Given the description of an element on the screen output the (x, y) to click on. 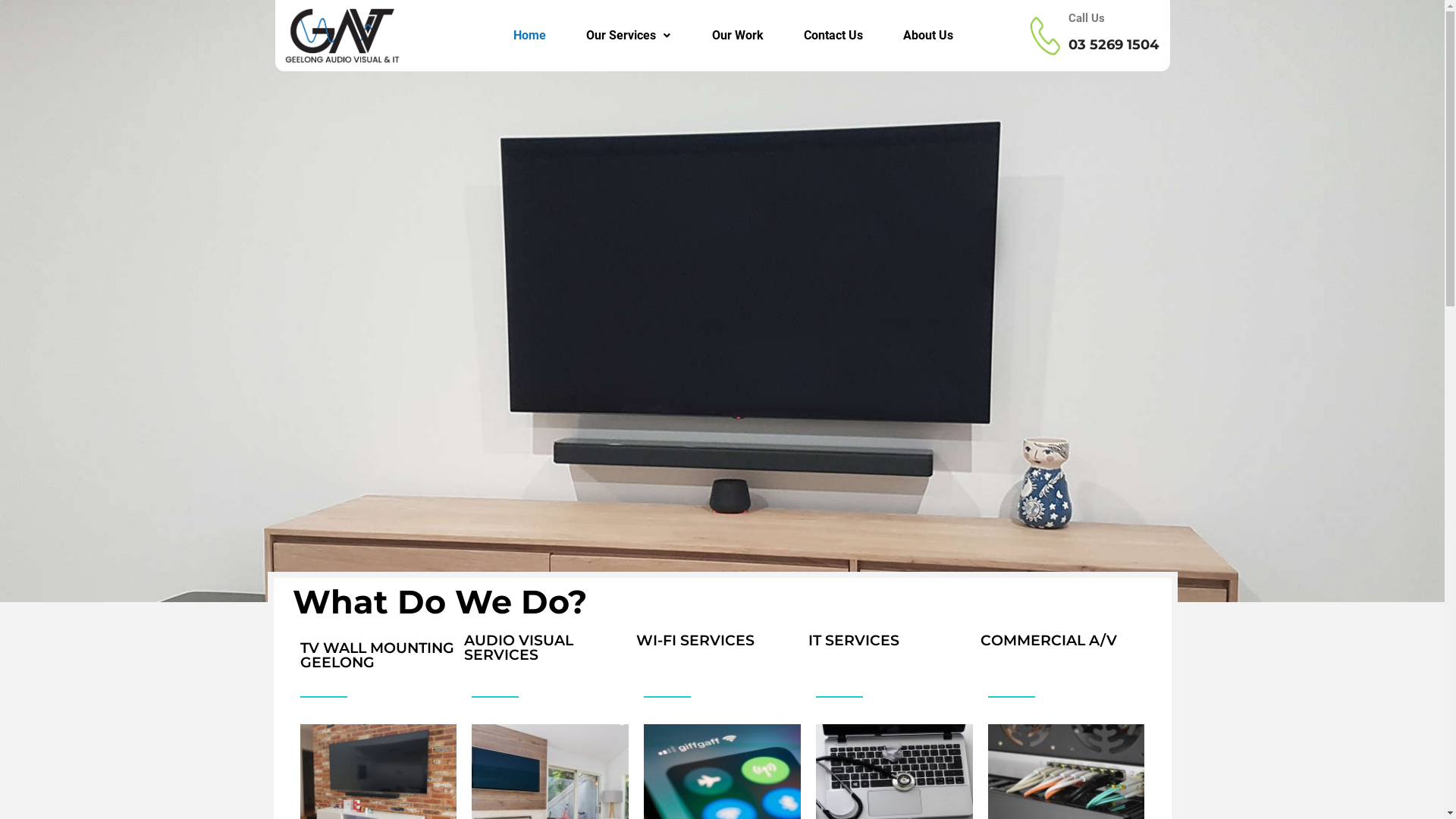
AUDIO VISUAL SERVICES Element type: text (518, 647)
Home Element type: text (528, 35)
IT SERVICES Element type: text (853, 640)
Our Services Element type: text (628, 35)
WI-FI SERVICES Element type: text (695, 640)
TV WALL MOUNTING GEELONG Element type: text (377, 655)
03 5269 1504 Element type: text (1113, 44)
About Us Element type: text (927, 35)
COMMERCIAL A/V Element type: text (1048, 640)
Our Work Element type: text (738, 35)
Contact Us Element type: text (833, 35)
